Given the description of an element on the screen output the (x, y) to click on. 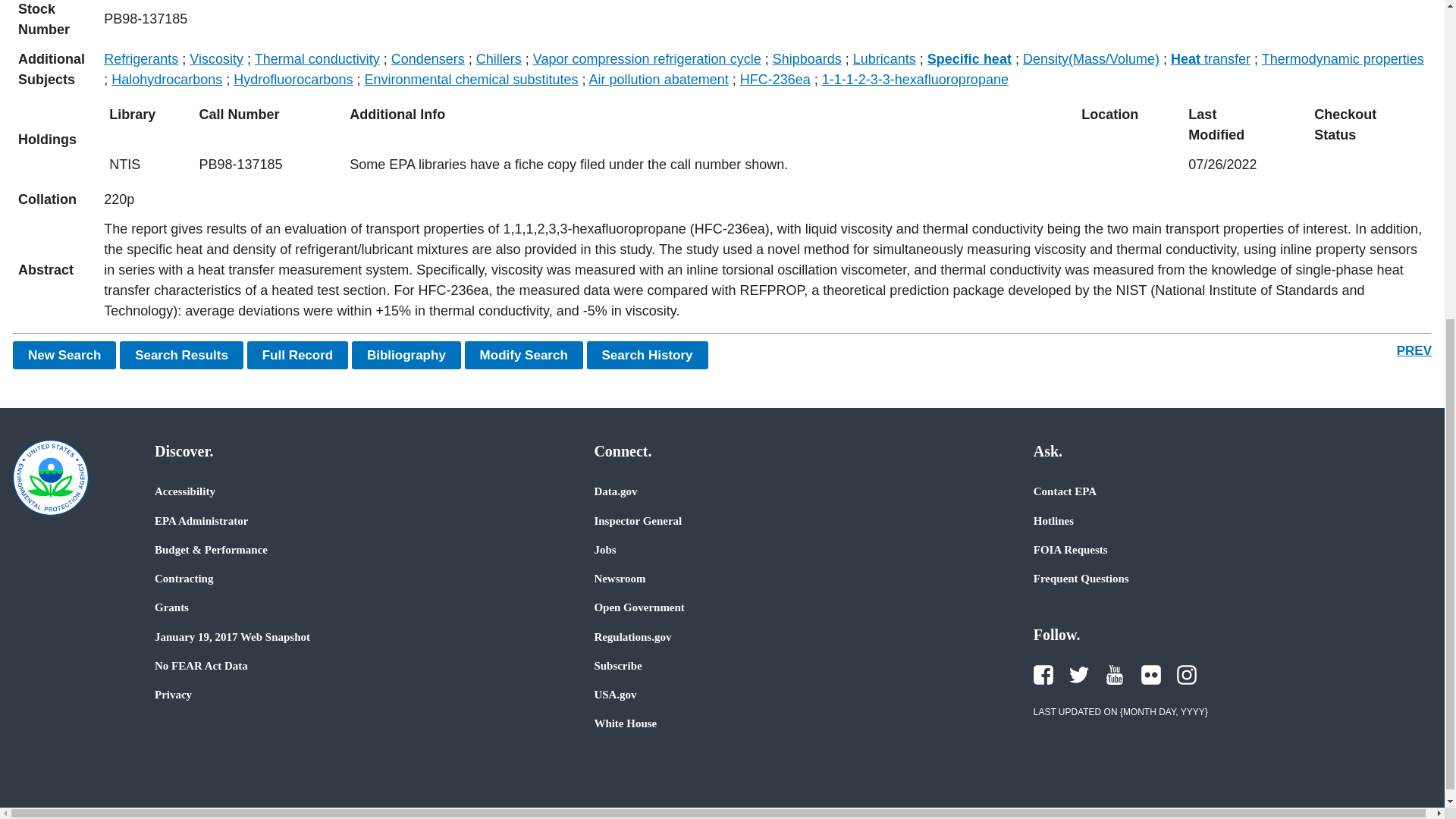
Search Results (181, 355)
January 19, 2017 Web Snapshot (232, 636)
PREV (1413, 350)
Heat transfer (1210, 58)
Full Record (298, 355)
Create a New Search (64, 355)
Modify Search (523, 355)
EPA Administrator (200, 520)
HFC-236ea (774, 79)
